Given the description of an element on the screen output the (x, y) to click on. 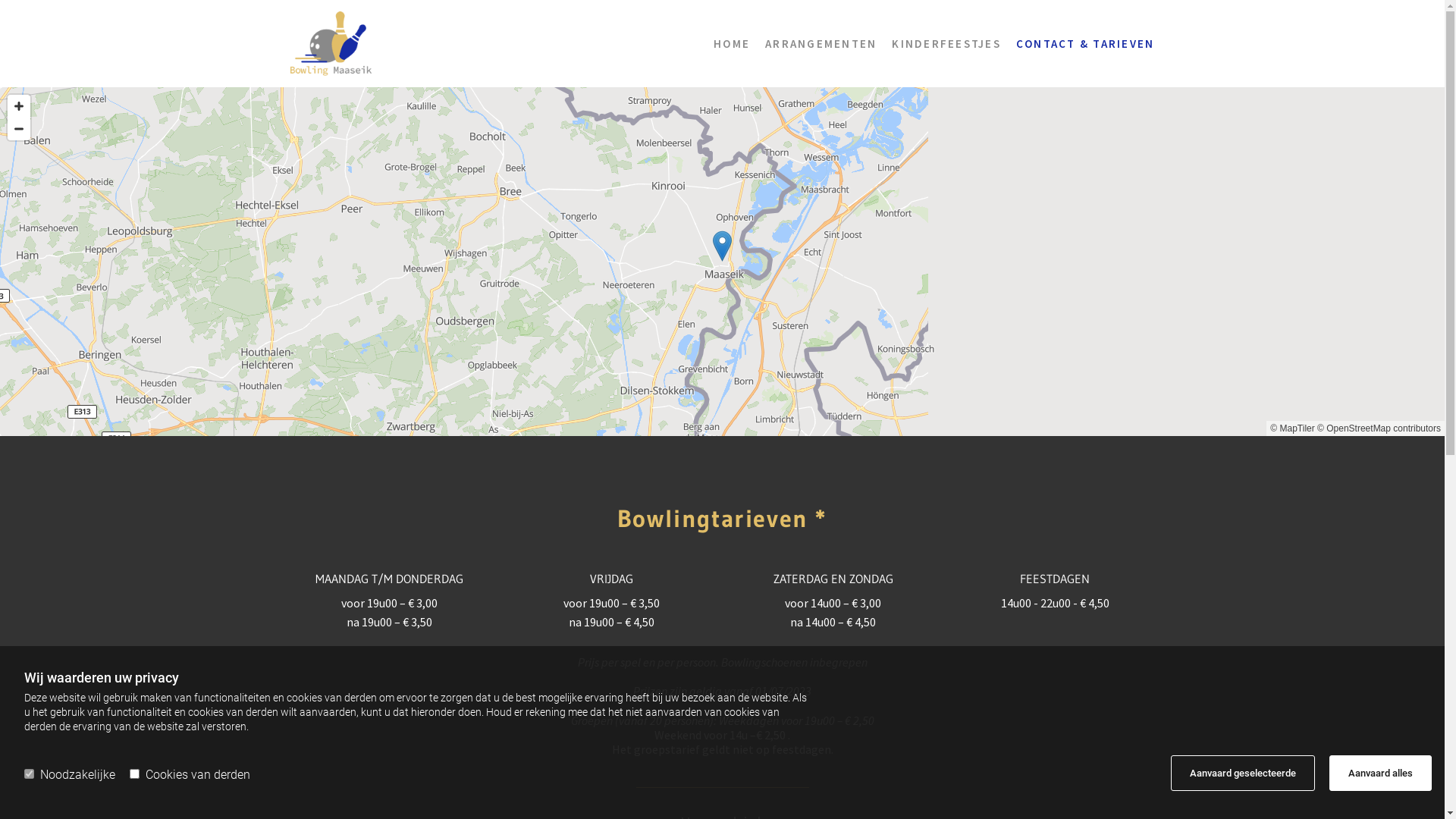
ARRANGEMENTEN Element type: text (812, 43)
CONTACT & TARIEVEN Element type: text (1077, 43)
Aanvaard geselecteerde Element type: text (1242, 772)
KINDERFEESTJES Element type: text (938, 43)
HOME Element type: text (723, 43)
Aanvaard alles Element type: text (1380, 772)
